Given the description of an element on the screen output the (x, y) to click on. 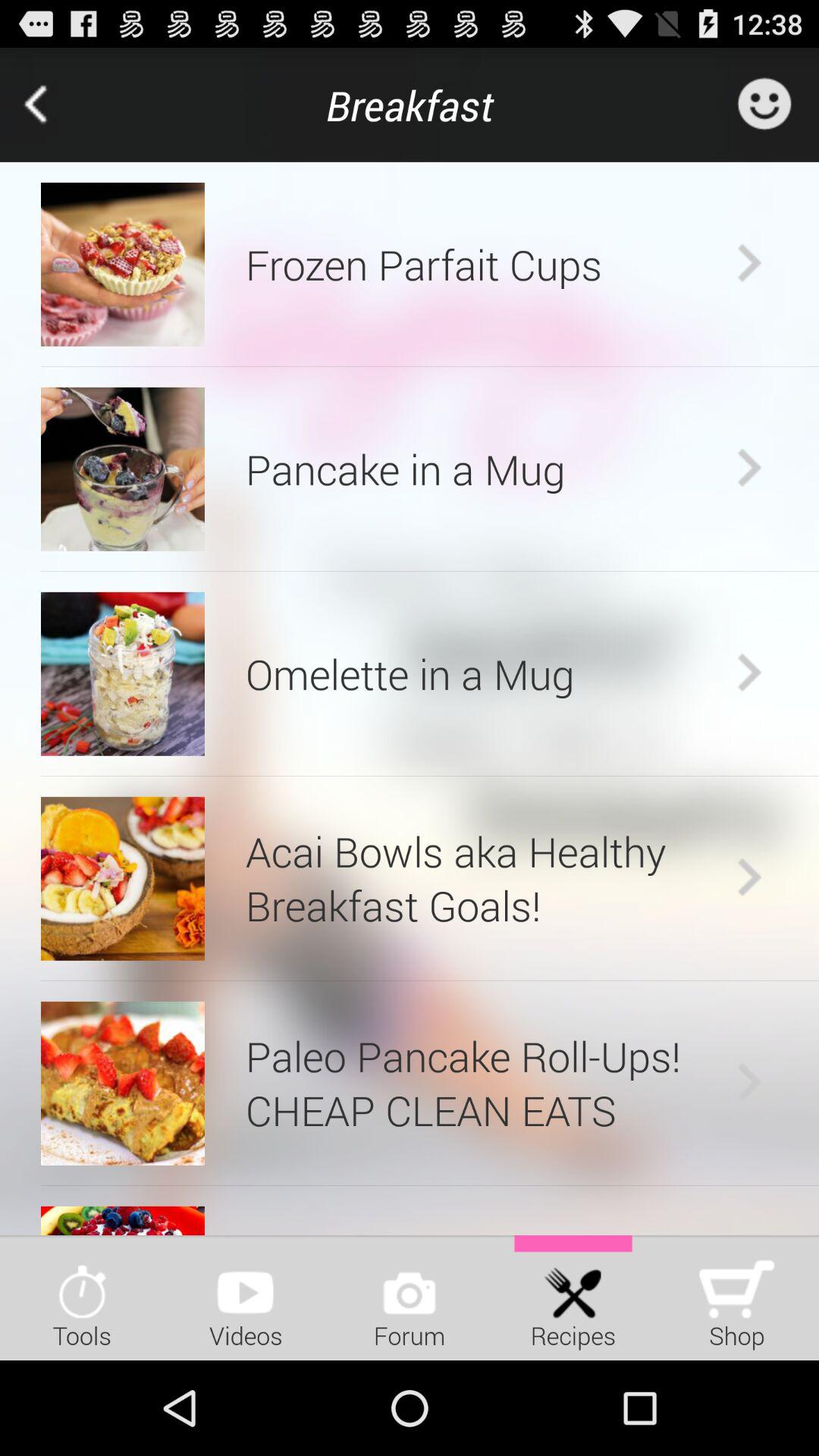
turn off icon next to the shop icon (573, 1297)
